Given the description of an element on the screen output the (x, y) to click on. 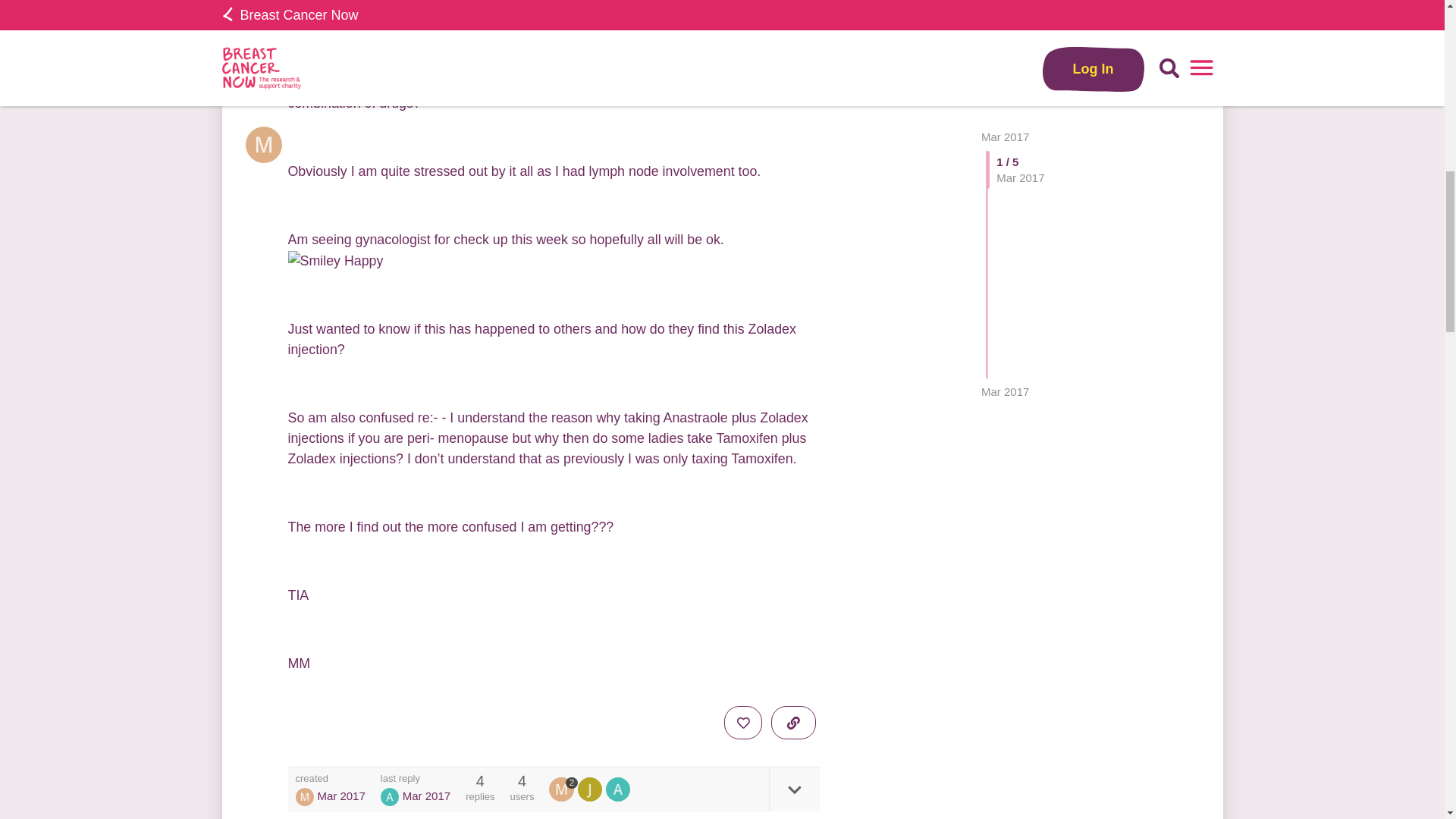
copy a link to this post to clipboard (793, 722)
last reply (414, 777)
2 (562, 789)
8 Mar 2017 00:51 (426, 795)
7 Mar 2017 04:18 (341, 795)
like this post (742, 722)
Smiley Happy (336, 260)
MysteryMouse (304, 796)
expand topic details (793, 789)
Anita (389, 796)
8 Mar 2017 00:51 (1005, 20)
MysteryMouse (562, 789)
Mar 2017 (1005, 20)
